Given the description of an element on the screen output the (x, y) to click on. 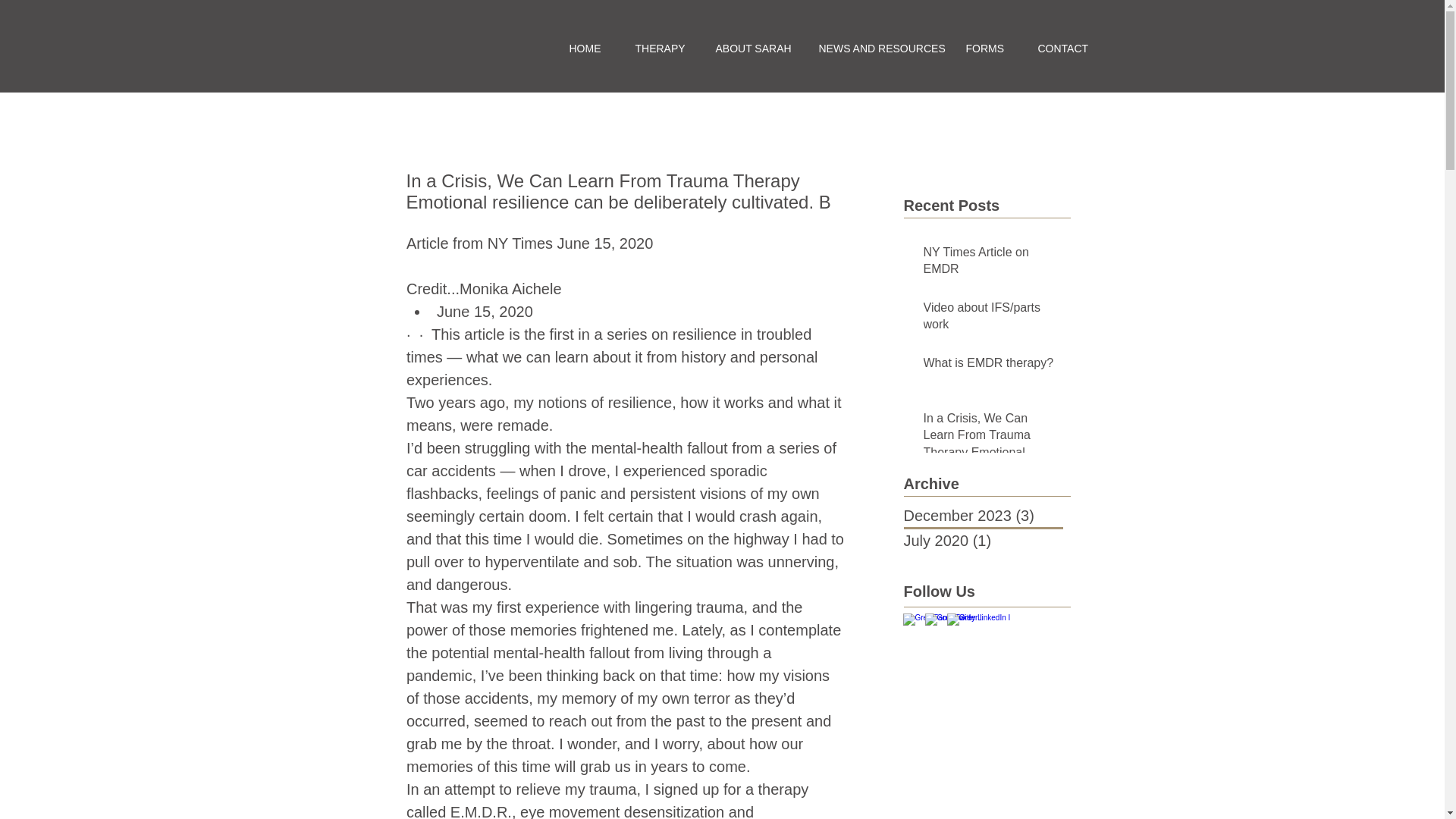
NEWS AND RESOURCES (872, 48)
NY Times Article on EMDR (992, 264)
What is EMDR therapy? (992, 365)
THERAPY (655, 48)
CONTACT (1058, 48)
FORMS (981, 48)
HOME (582, 48)
ABOUT SARAH (747, 48)
